Given the description of an element on the screen output the (x, y) to click on. 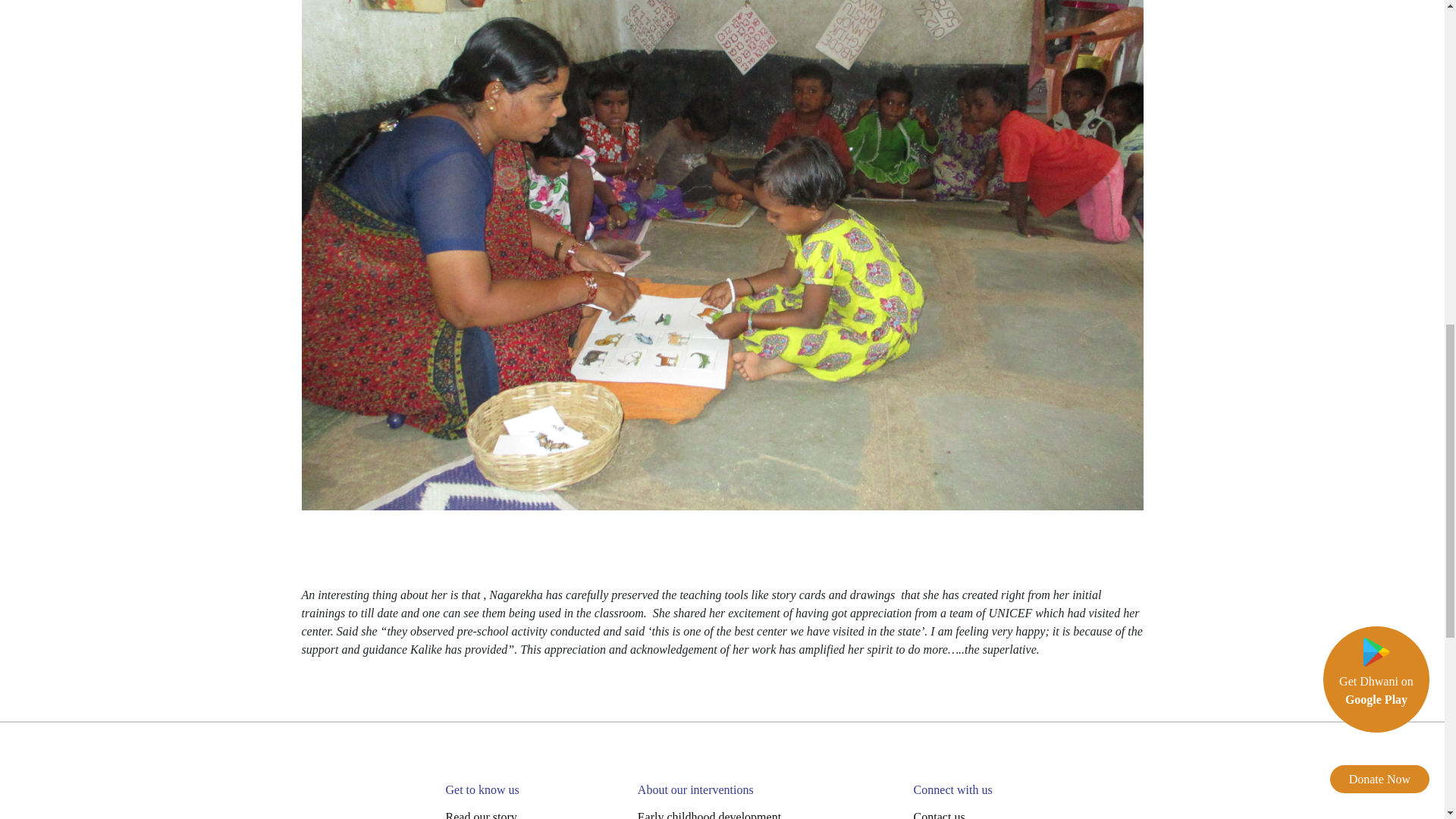
Read our story (480, 814)
Contact us (939, 814)
Early childhood development (708, 814)
